Given the description of an element on the screen output the (x, y) to click on. 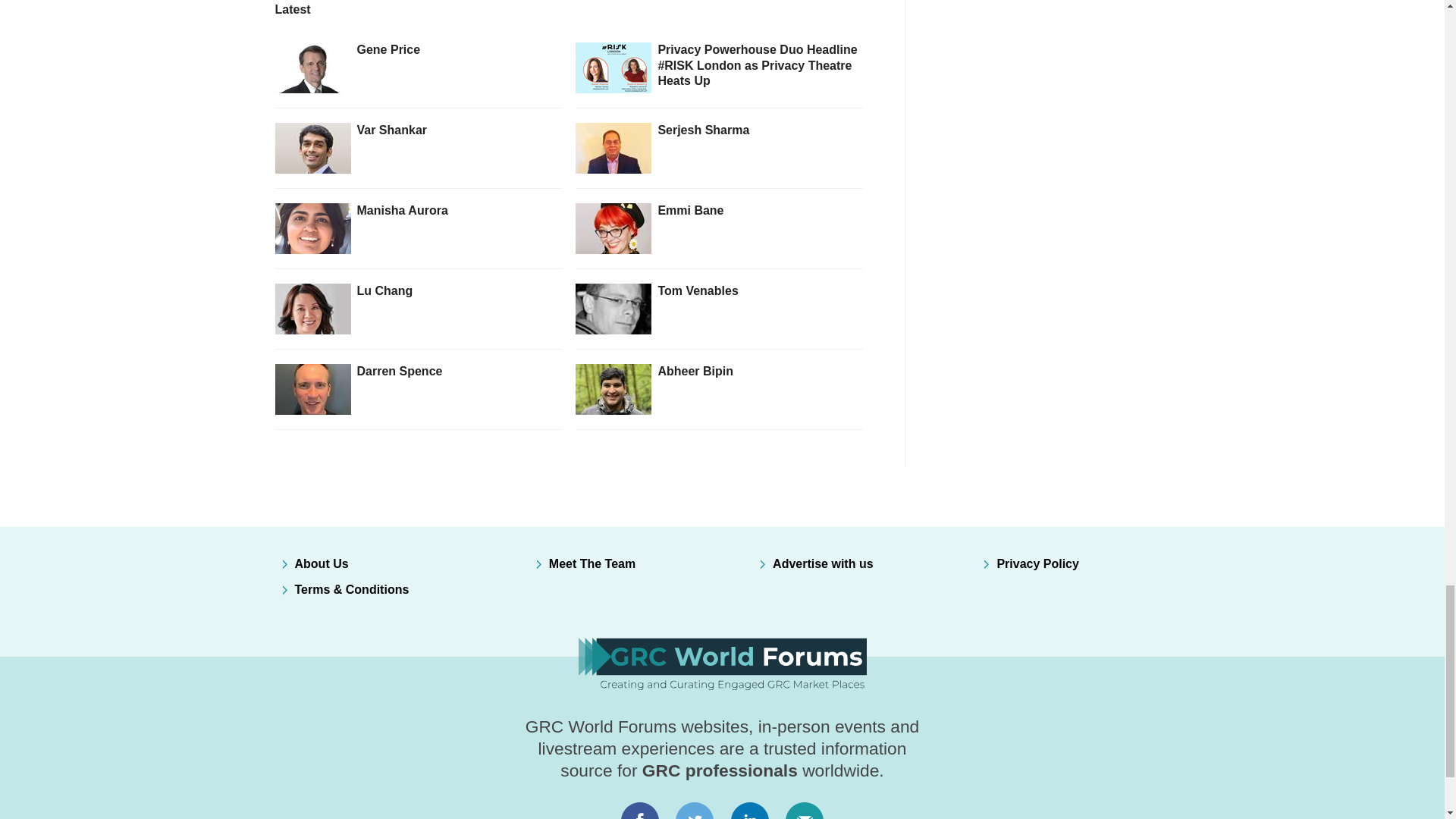
Connect with us on LinkedIn (750, 810)
Connect with us on Facebook (639, 810)
Connect with us on Twitter (694, 810)
Email us (804, 810)
